Given the description of an element on the screen output the (x, y) to click on. 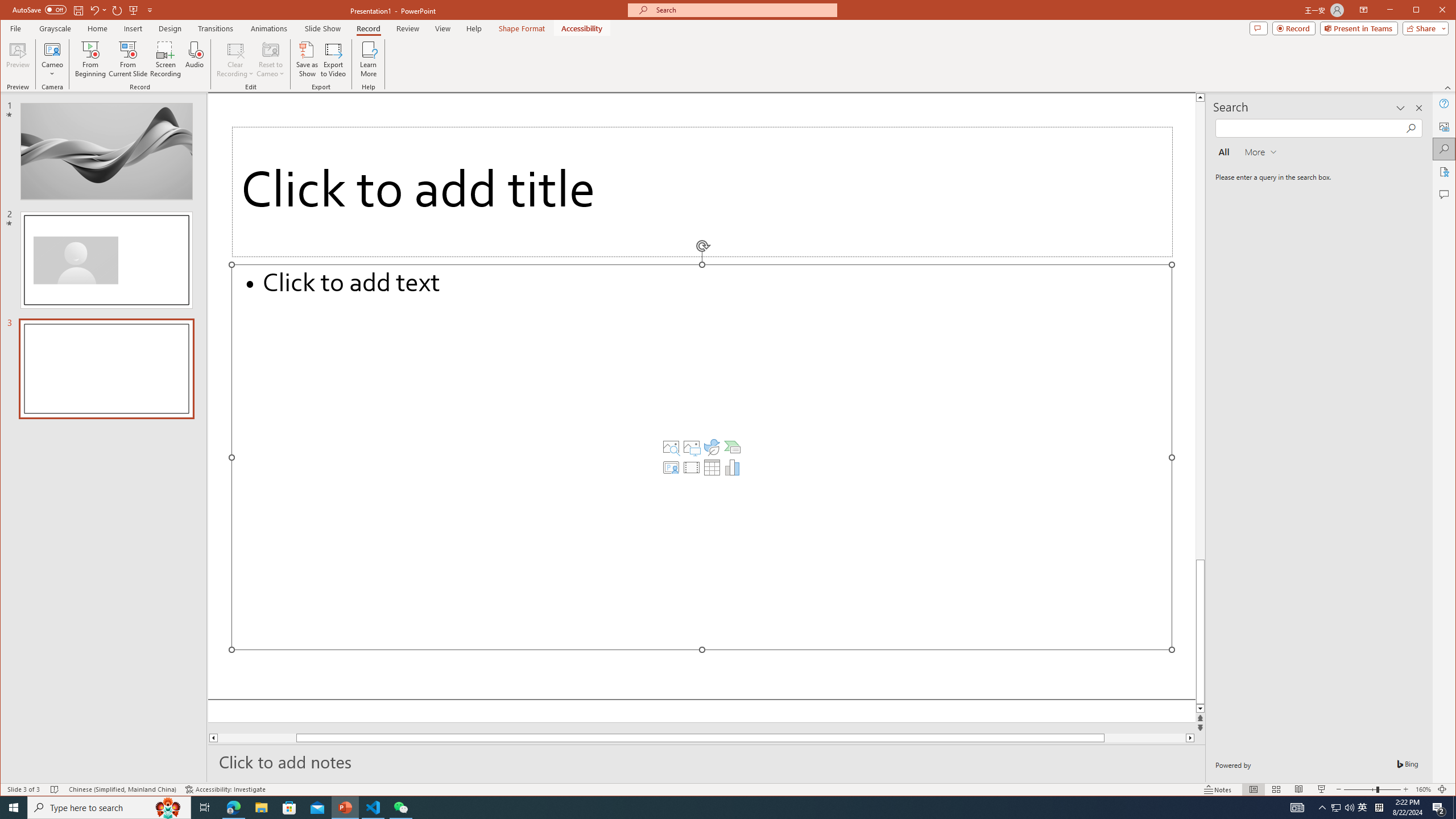
Save as Show (307, 59)
